Given the description of an element on the screen output the (x, y) to click on. 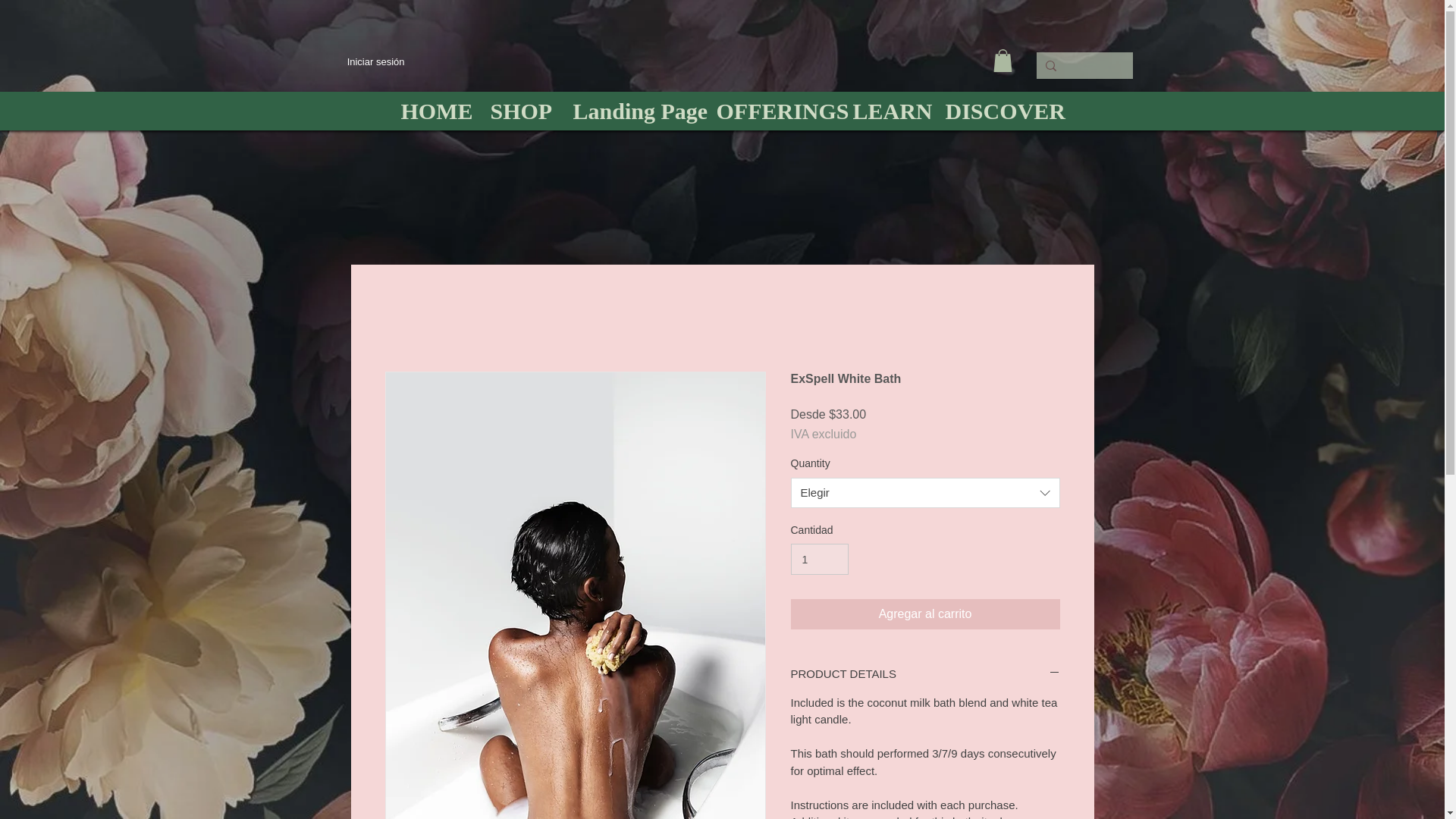
Agregar al carrito (924, 613)
Elegir (924, 492)
HOME (430, 110)
Landing Page (628, 110)
PRODUCT DETAILS (924, 673)
1 (818, 558)
